Given the description of an element on the screen output the (x, y) to click on. 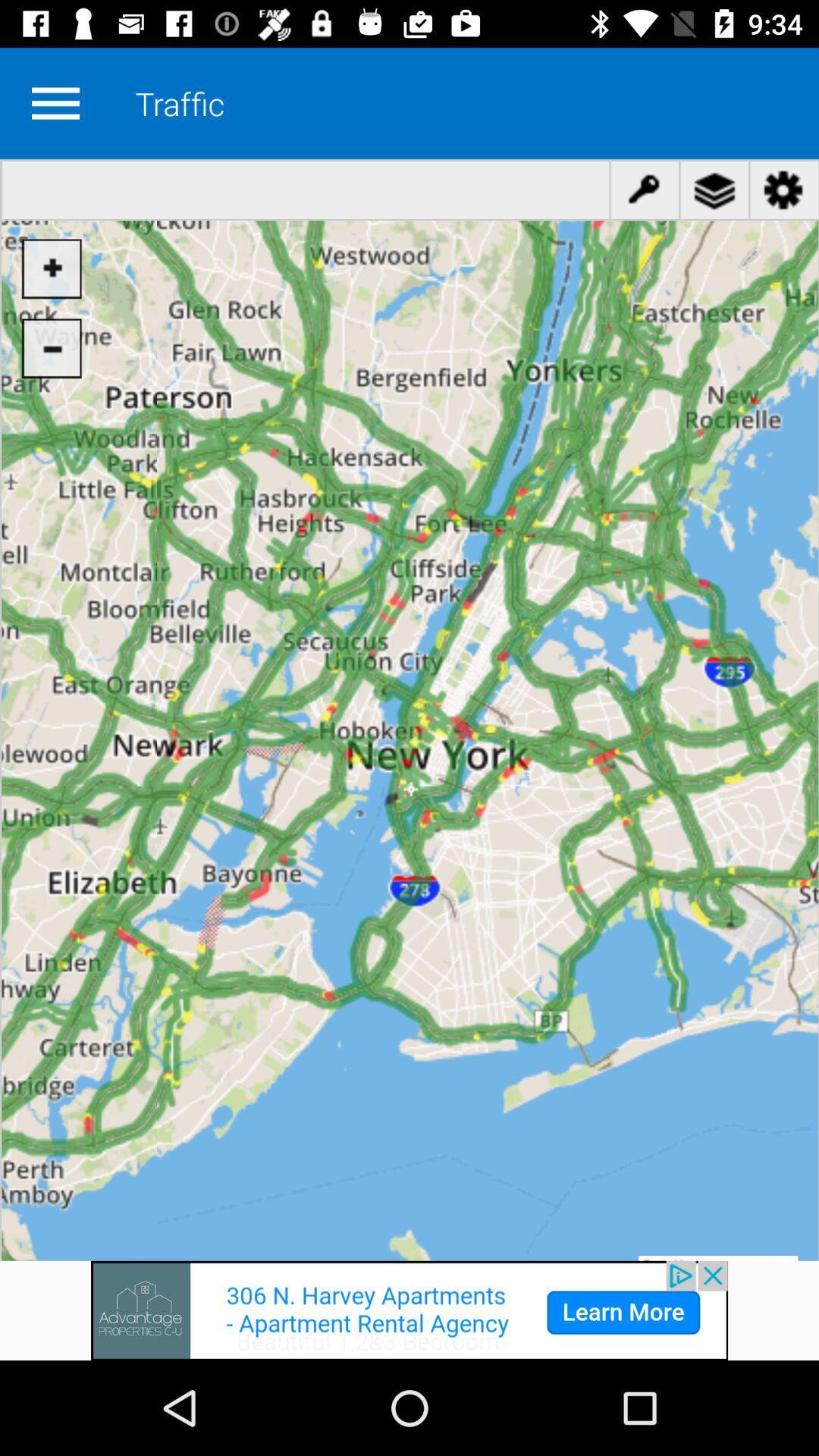
click the menu button (55, 103)
